Given the description of an element on the screen output the (x, y) to click on. 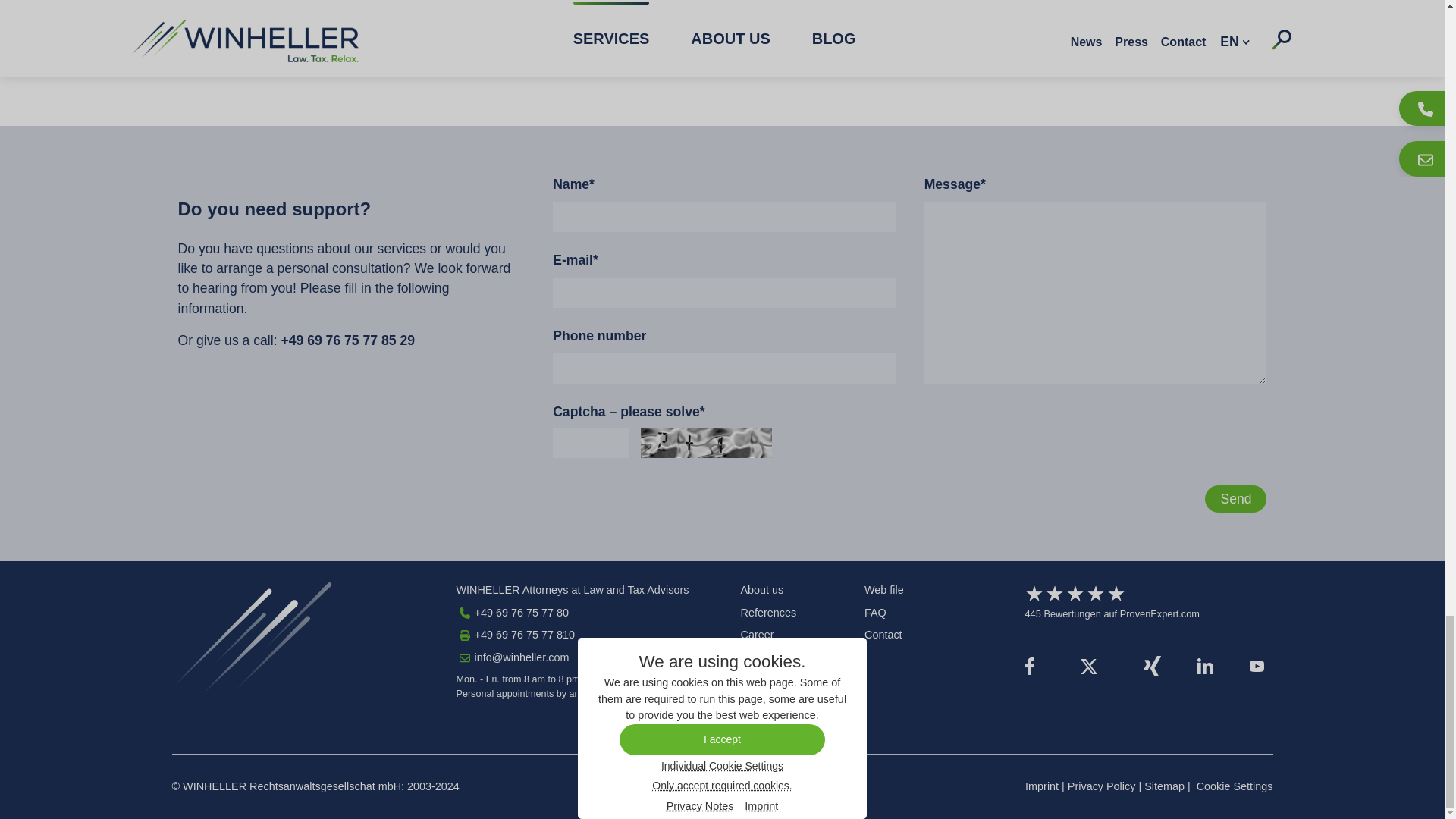
Send (1235, 498)
